Given the description of an element on the screen output the (x, y) to click on. 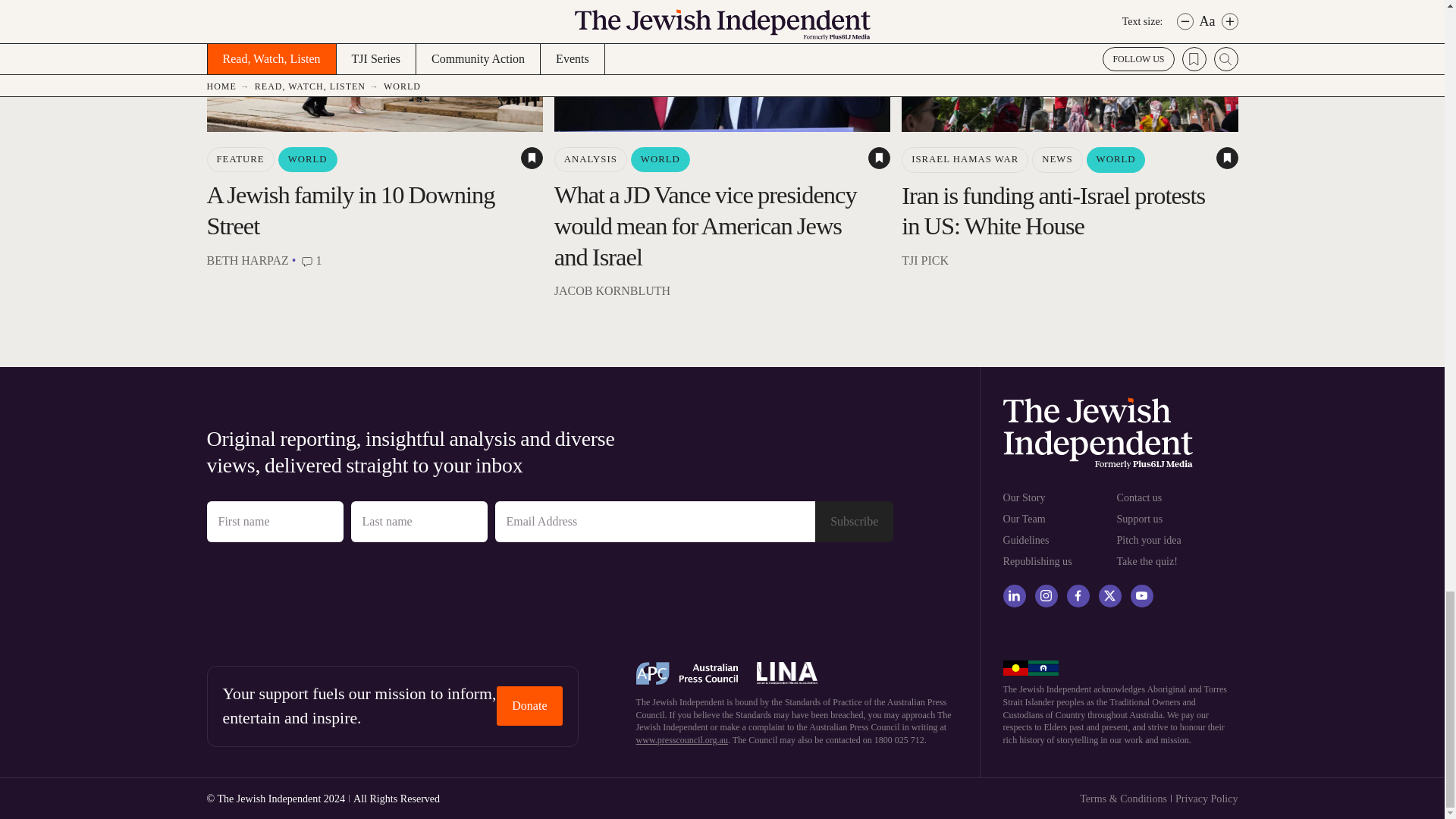
Add to your saved articles (1227, 157)
Add to your saved articles (878, 157)
Add to your saved articles (532, 157)
